Given the description of an element on the screen output the (x, y) to click on. 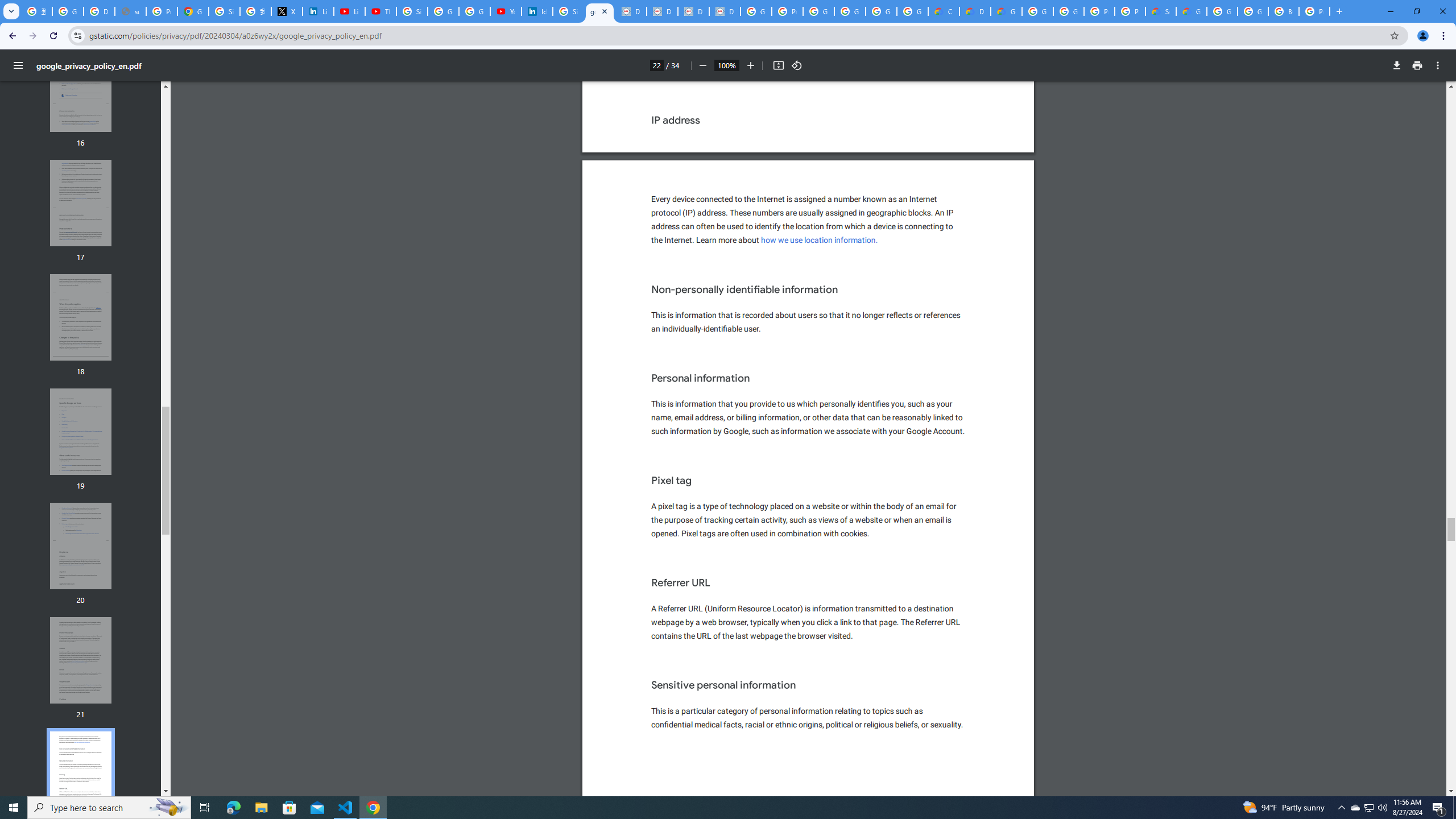
More actions (1437, 65)
Google Cloud Service Health (1190, 11)
Thumbnail for page 18 (80, 317)
LinkedIn - YouTube (349, 11)
Thumbnail for page 17 (80, 202)
Google Cloud Platform (1252, 11)
